Given the description of an element on the screen output the (x, y) to click on. 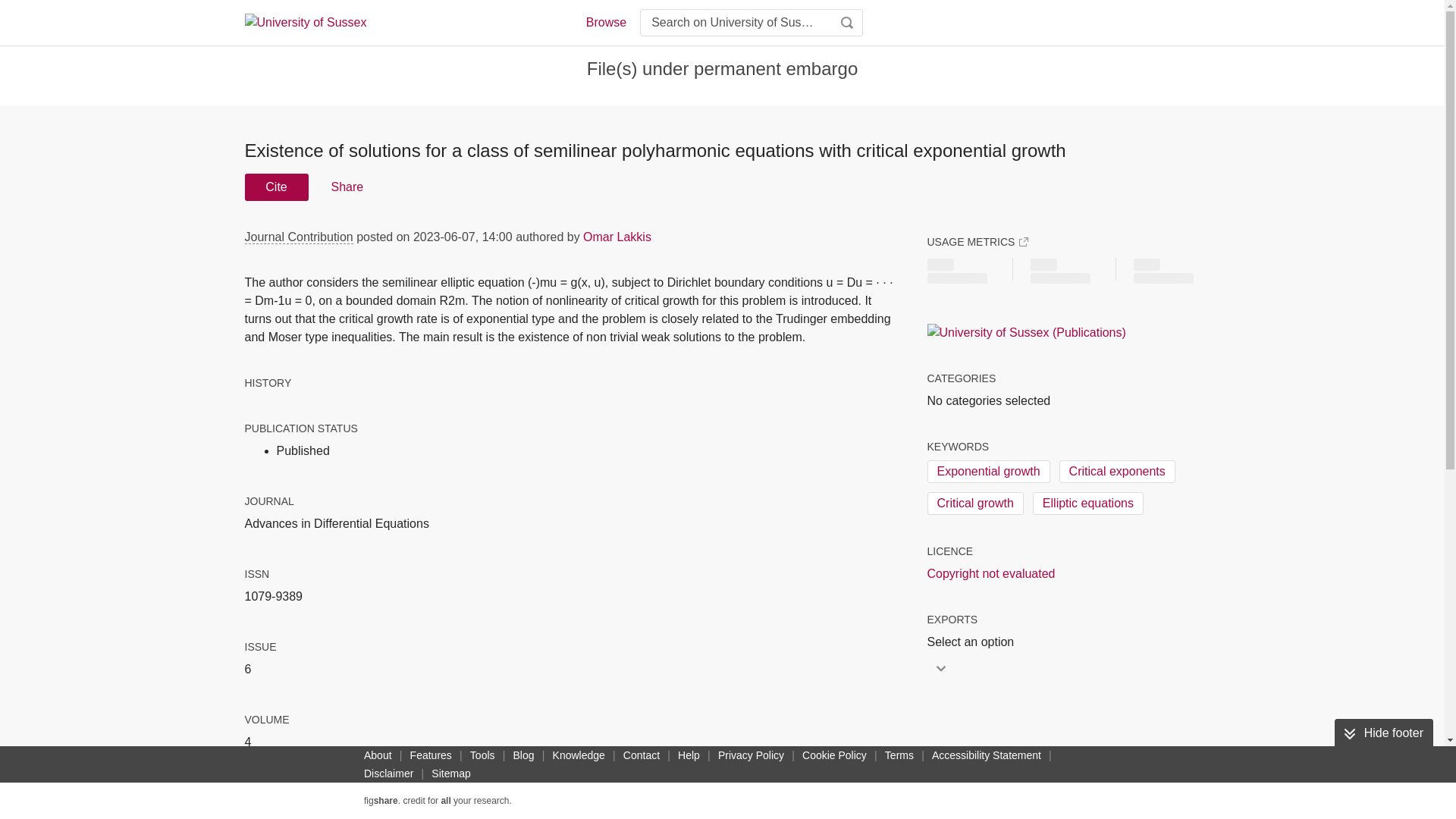
Browse (605, 22)
Knowledge (579, 755)
Select an option (974, 642)
Contact (640, 755)
Elliptic equations (1087, 503)
Privacy Policy (751, 755)
Omar Lakkis (616, 236)
Tools (482, 755)
Critical growth (974, 503)
Accessibility Statement (986, 755)
Exponential growth (987, 471)
Copyright not evaluated (990, 574)
Cite (275, 186)
USAGE METRICS (976, 241)
Blog (523, 755)
